Given the description of an element on the screen output the (x, y) to click on. 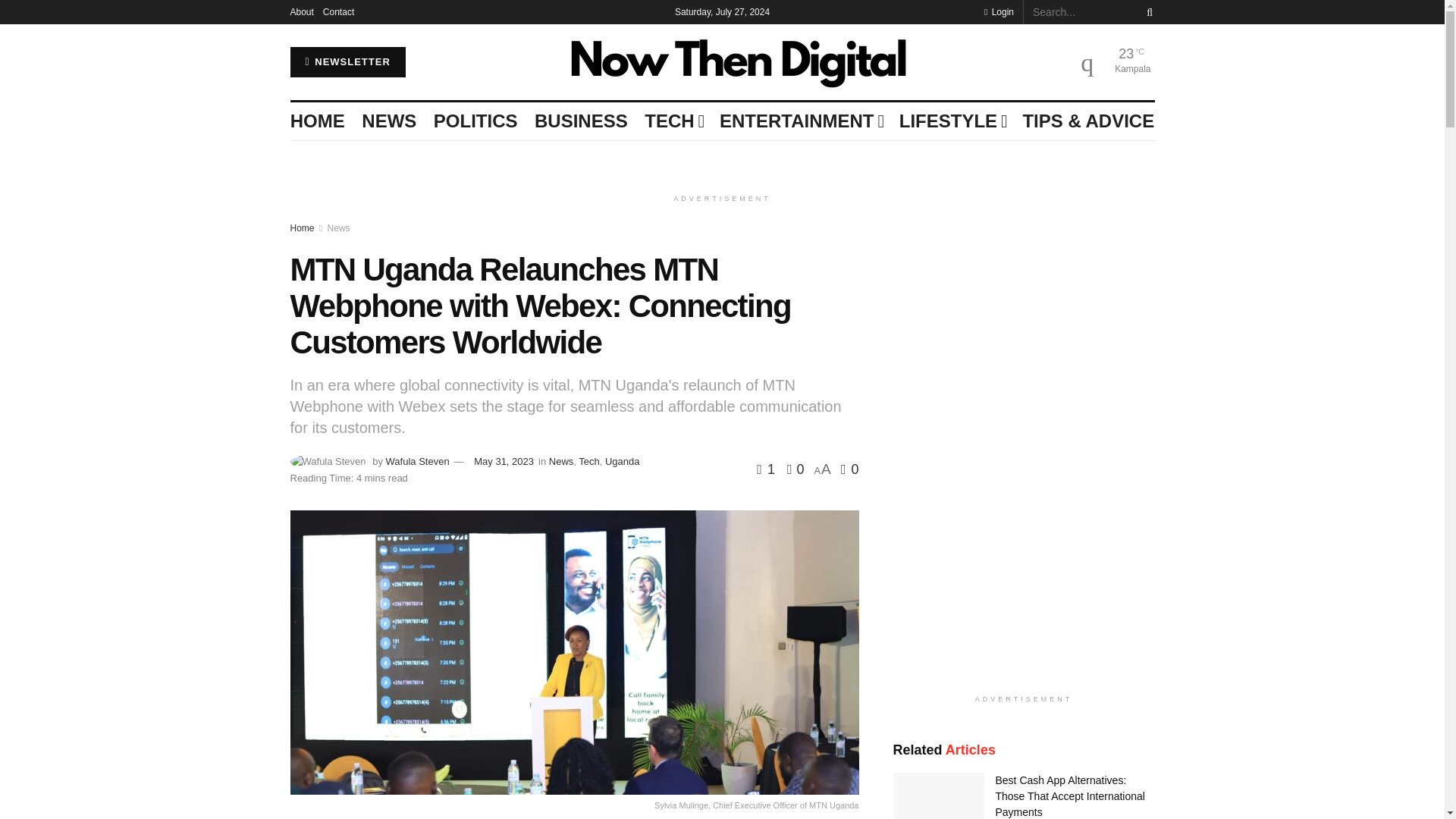
Home (301, 227)
NEWSLETTER (346, 61)
May 31, 2023 (504, 460)
News (338, 227)
About (301, 12)
POLITICS (475, 121)
HOME (317, 121)
TECH (674, 121)
Login (998, 12)
Contact (338, 12)
1 (767, 468)
ENTERTAINMENT (800, 121)
Tech (588, 460)
Uganda (622, 460)
0 (791, 468)
